Given the description of an element on the screen output the (x, y) to click on. 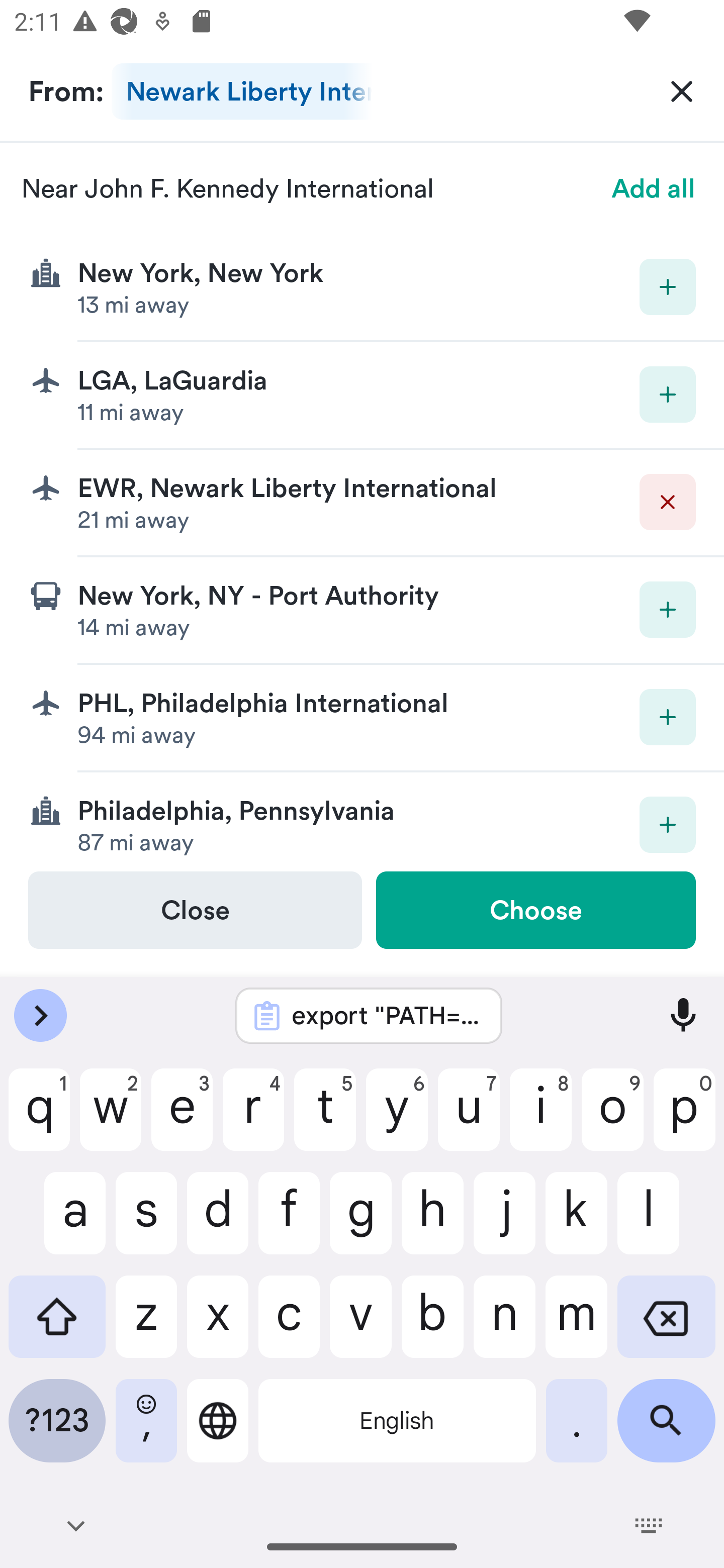
Clear All (681, 90)
Newark Liberty International (241, 91)
Add all (653, 187)
Add destination New York, New York 13 mi away (362, 287)
Add destination (667, 286)
Add destination LGA, LaGuardia 11 mi away (362, 395)
Add destination (667, 394)
Delete (667, 501)
Add destination (667, 609)
Add destination (667, 716)
Add destination (667, 824)
Close (195, 909)
Choose (535, 909)
